Given the description of an element on the screen output the (x, y) to click on. 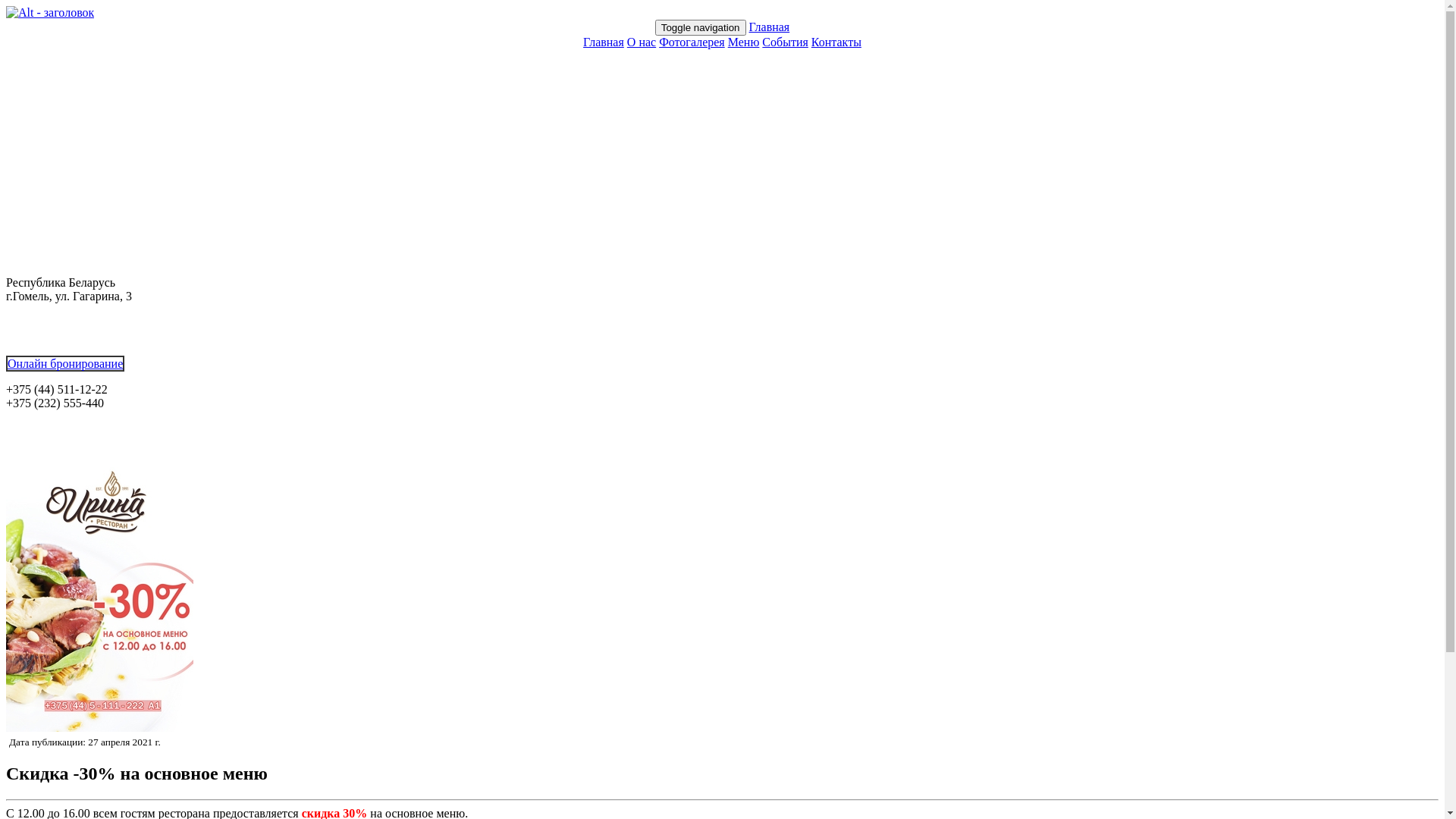
Toggle navigation Element type: text (700, 27)
